Given the description of an element on the screen output the (x, y) to click on. 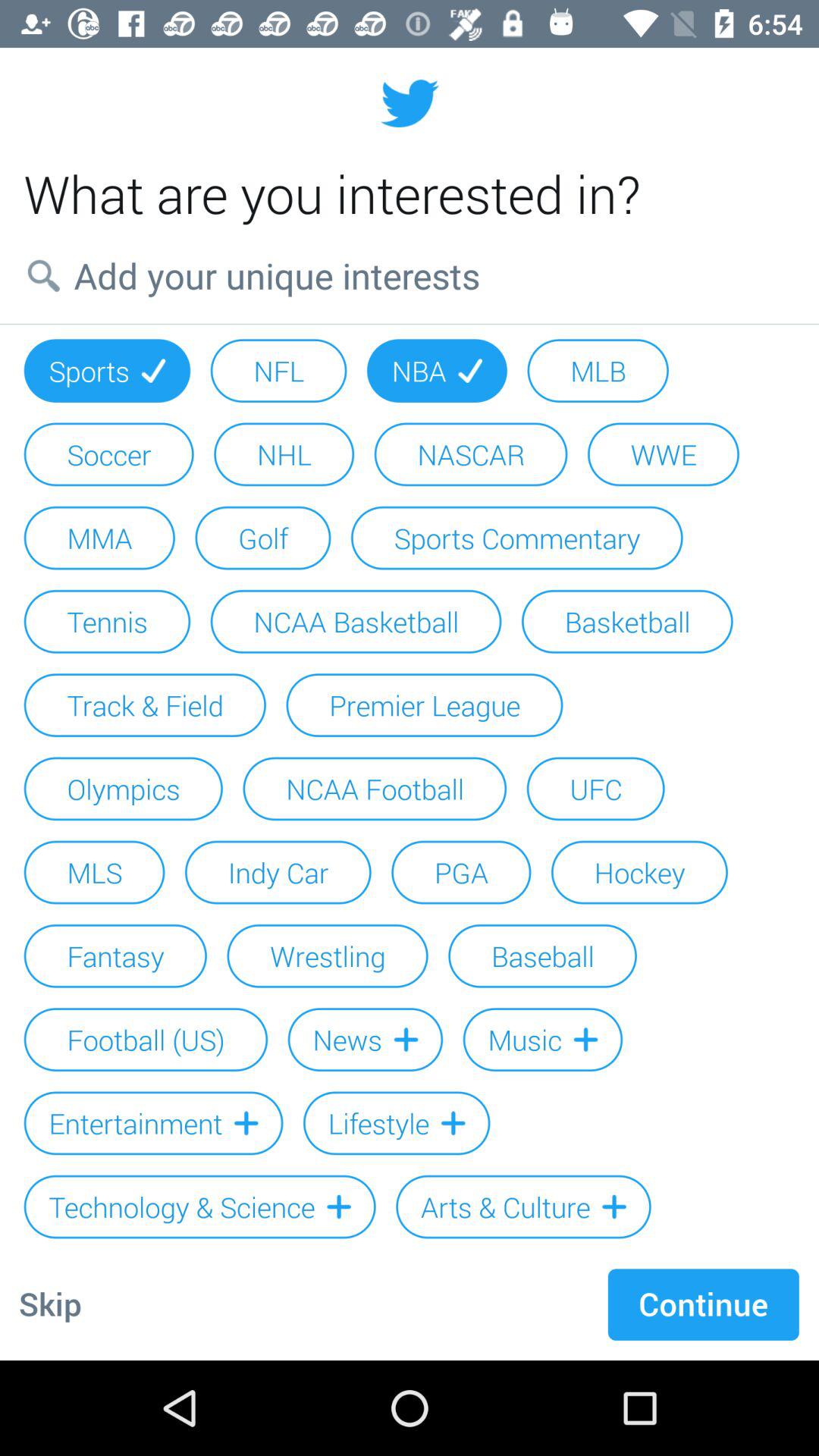
scroll to the tennis item (106, 621)
